Given the description of an element on the screen output the (x, y) to click on. 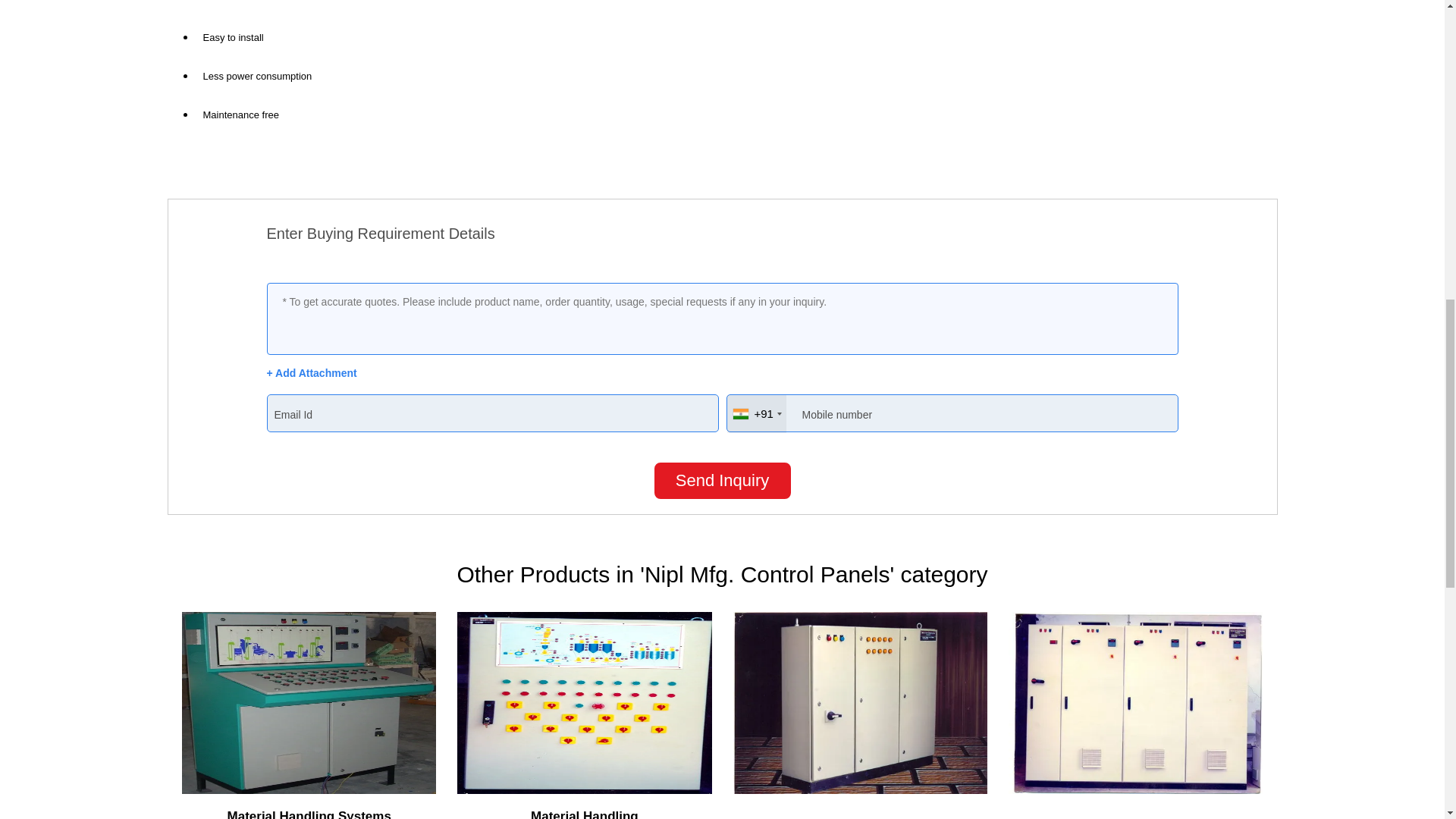
Material Handling Systems (309, 814)
Send Inquiry (721, 480)
Material Handling (585, 814)
